Given the description of an element on the screen output the (x, y) to click on. 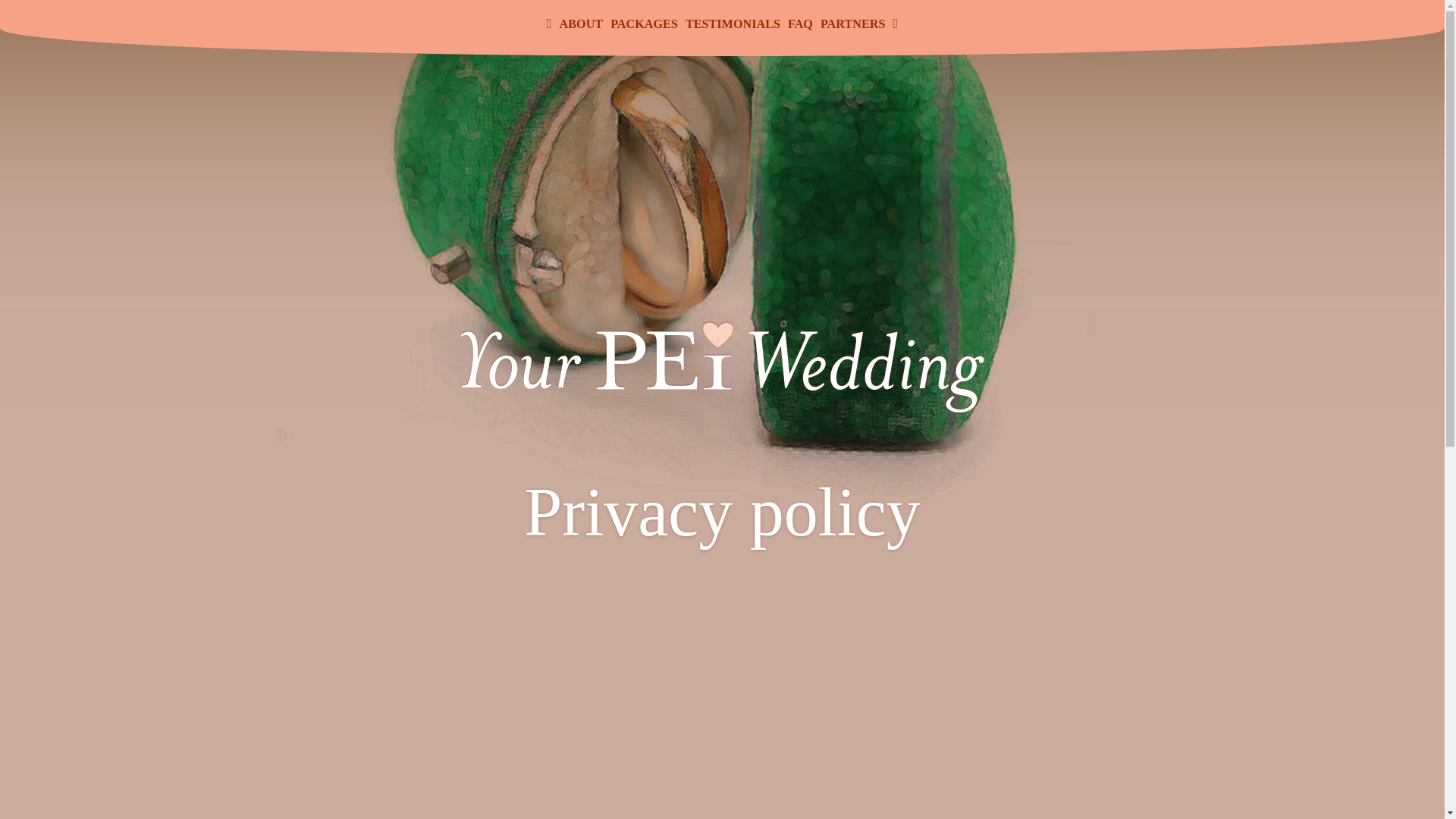
PACKAGES (644, 24)
FAQ (800, 24)
FAQ (800, 24)
TESTIMONIALS (732, 24)
About (581, 24)
Testimonials (732, 24)
PARTNERS (852, 24)
Ceremony packages (644, 24)
yourpeiwedding.com (722, 400)
ABOUT (581, 24)
